Given the description of an element on the screen output the (x, y) to click on. 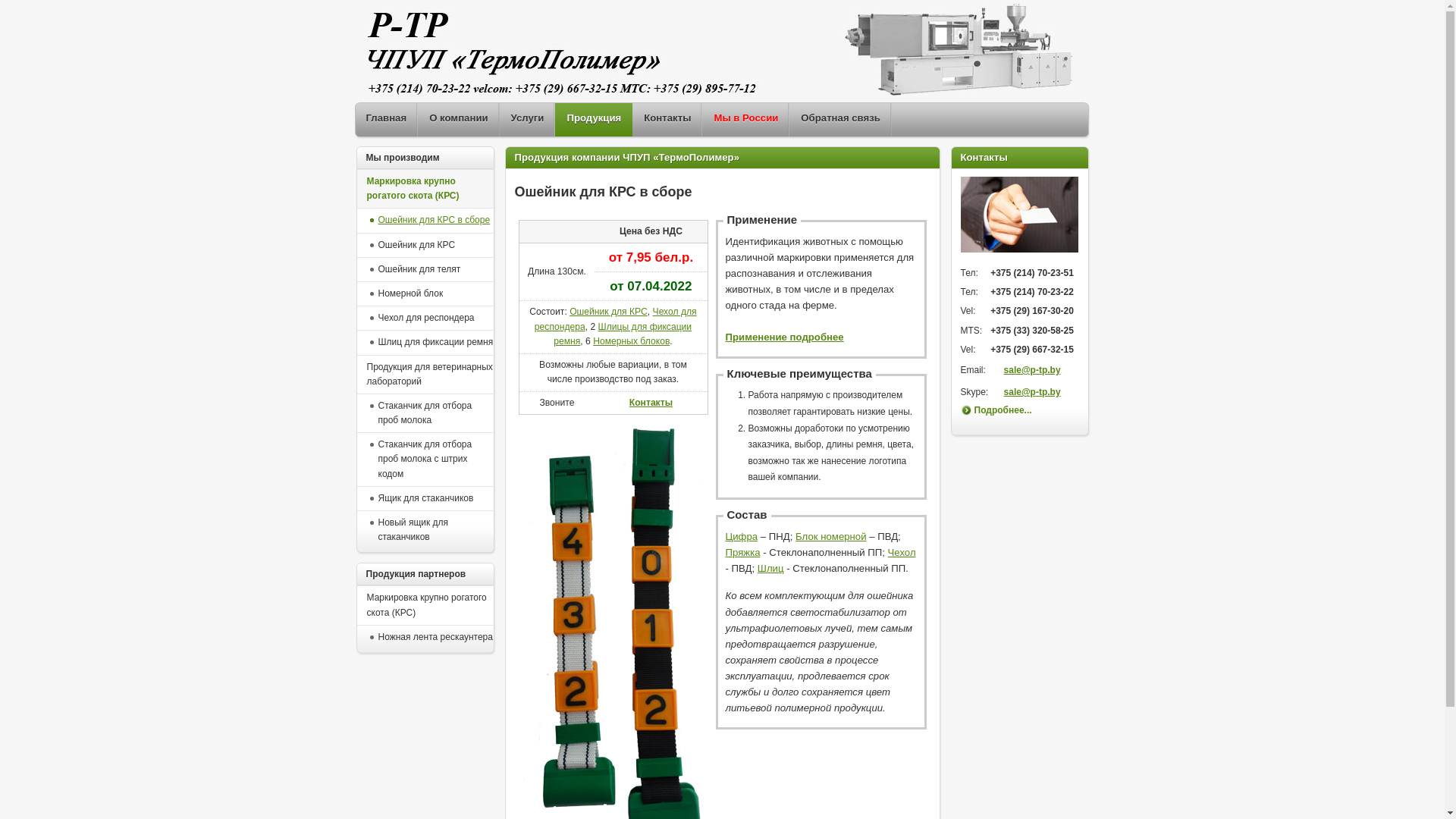
sale@p-tp.by Element type: text (1032, 369)
sale@p-tp.by Element type: text (1032, 391)
